Given the description of an element on the screen output the (x, y) to click on. 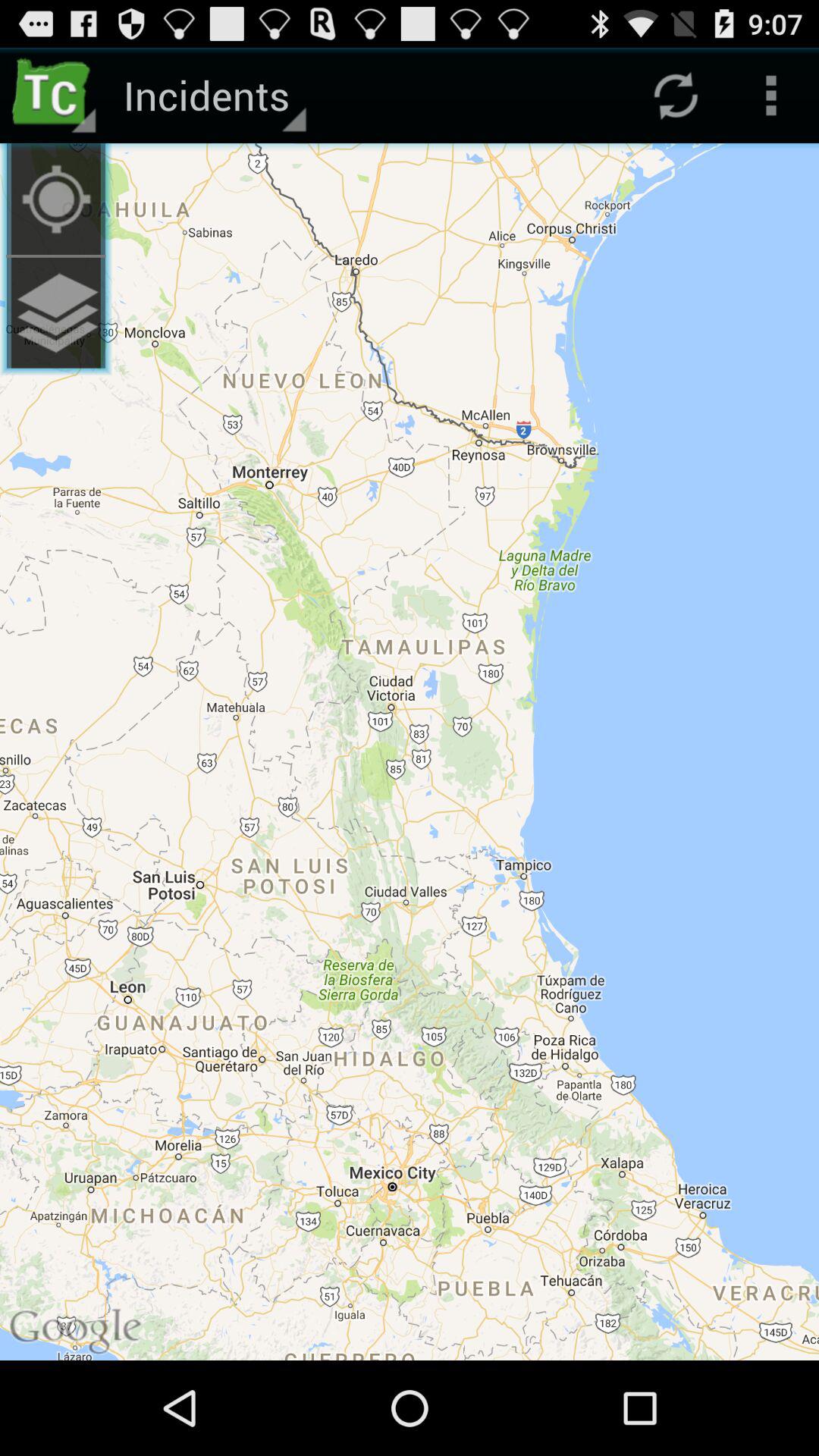
click icon at the center (409, 751)
